Given the description of an element on the screen output the (x, y) to click on. 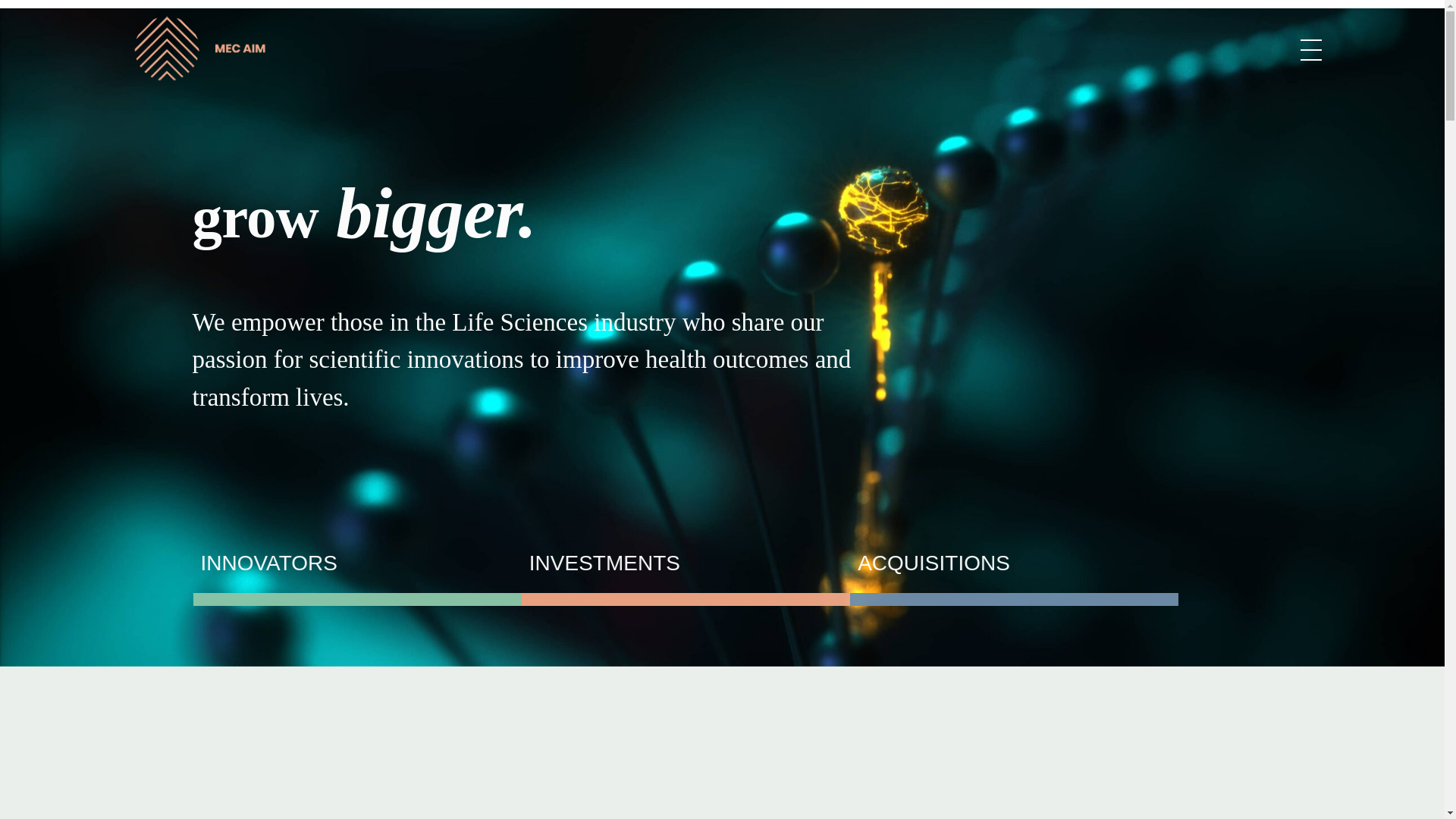
MEC AIM (158, 94)
MEC AIM (198, 46)
MEC AIM (158, 94)
